Given the description of an element on the screen output the (x, y) to click on. 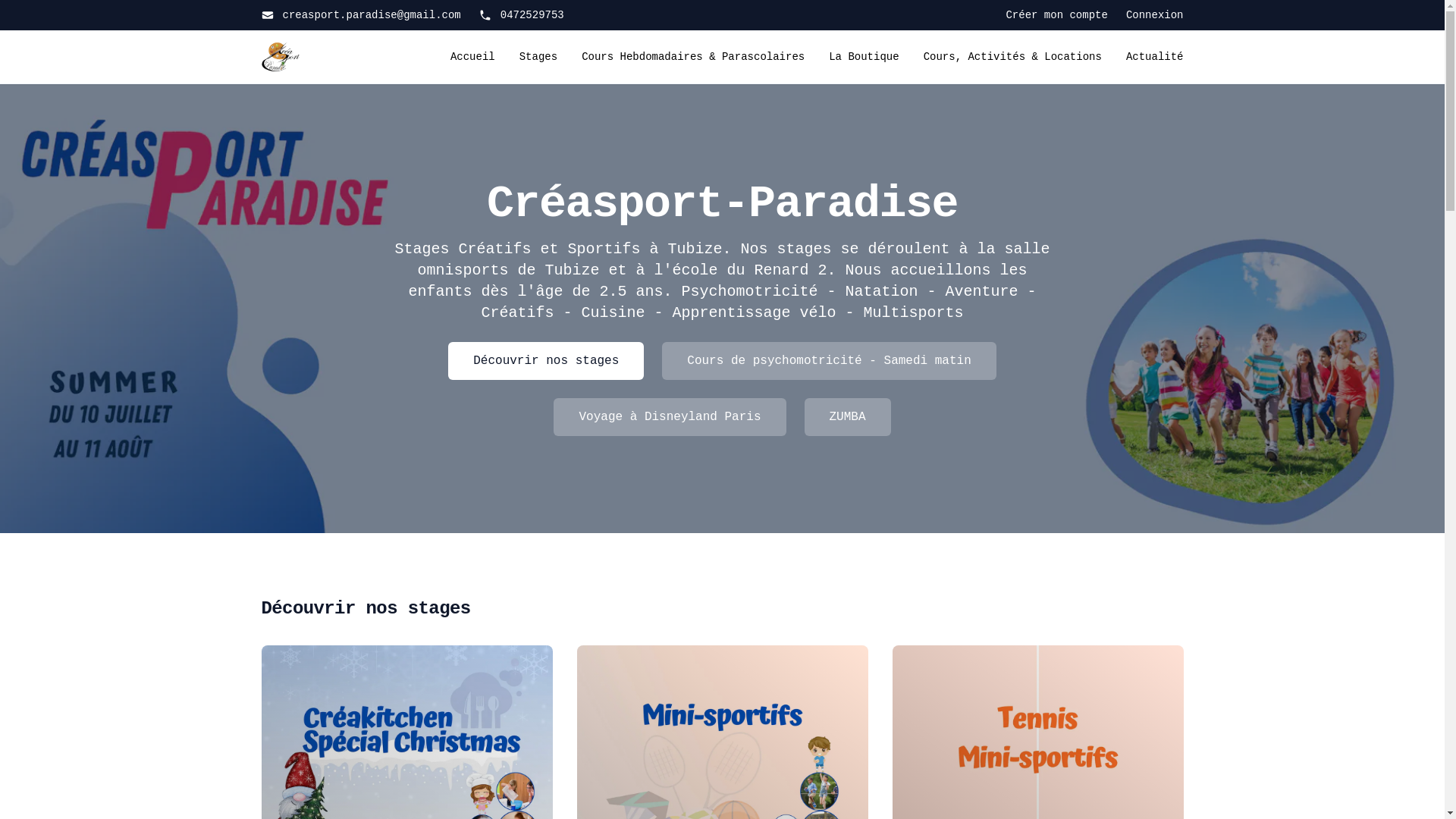
ZUMBA Element type: text (847, 417)
Stages Element type: text (538, 56)
La Boutique Element type: text (863, 56)
0472529753 Element type: text (521, 14)
Connexion Element type: text (1154, 14)
Cours Hebdomadaires & Parascolaires Element type: text (692, 56)
creasport.paradise@gmail.com Element type: text (360, 14)
Accueil Element type: text (472, 56)
